Given the description of an element on the screen output the (x, y) to click on. 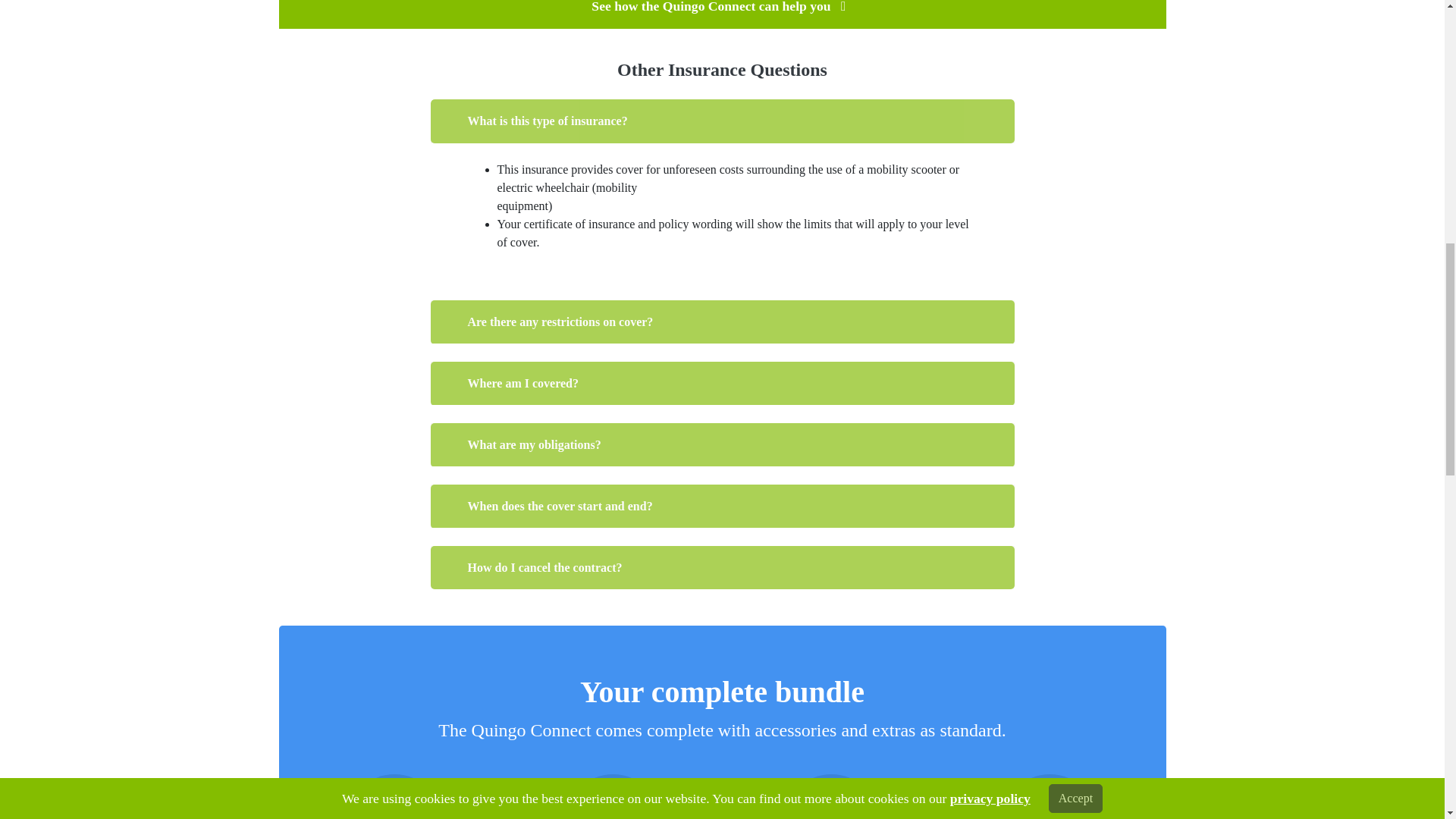
When does the cover start and end? (722, 506)
How do I cancel the contract? (722, 567)
What are my obligations? (722, 444)
See how the Quingo Connect can help you (721, 6)
What is this type of insurance? (722, 121)
Are there any restrictions on cover? (722, 321)
Where am I covered? (722, 383)
